Given the description of an element on the screen output the (x, y) to click on. 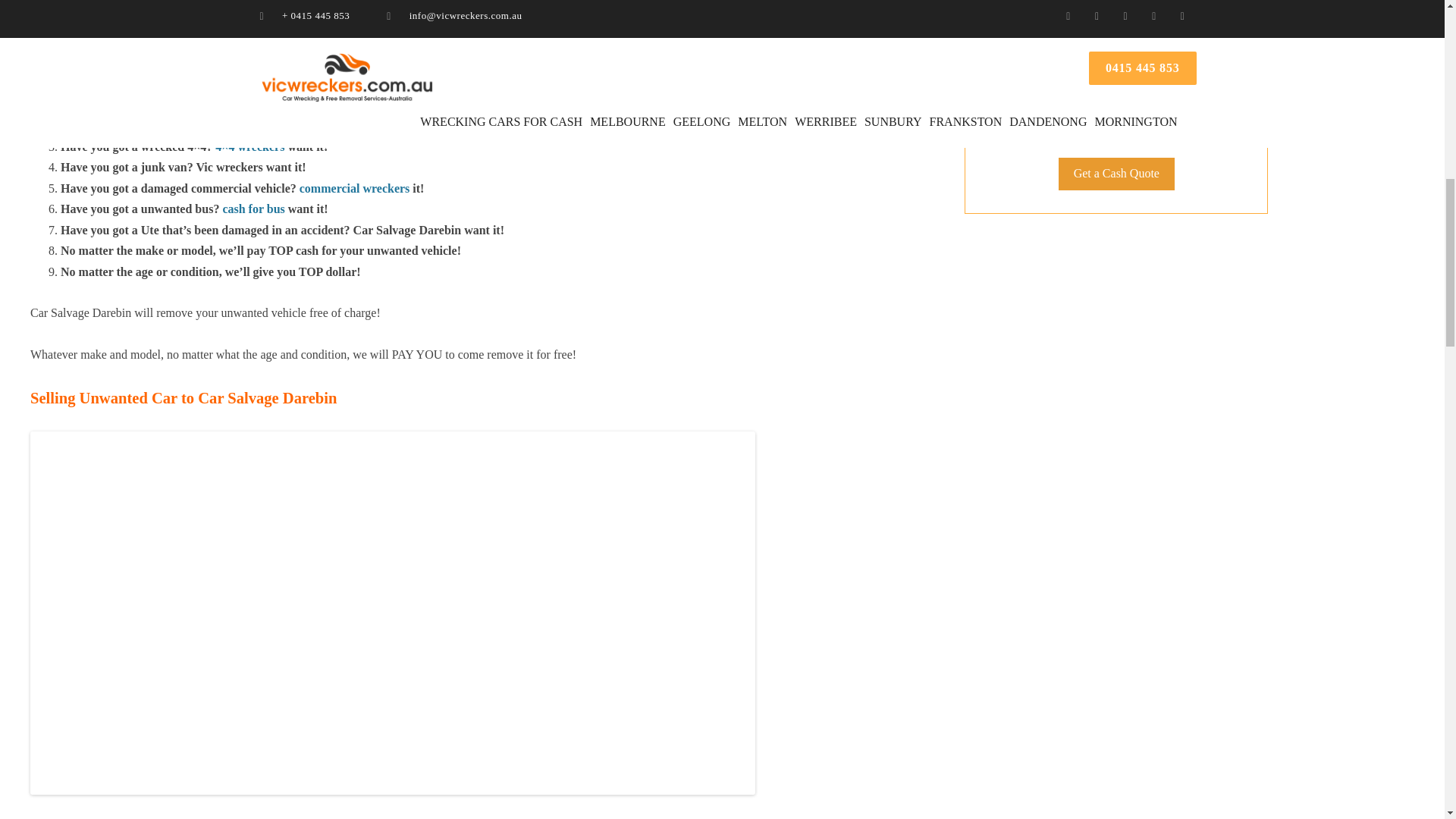
Get a Cash Quote (1116, 174)
